Given the description of an element on the screen output the (x, y) to click on. 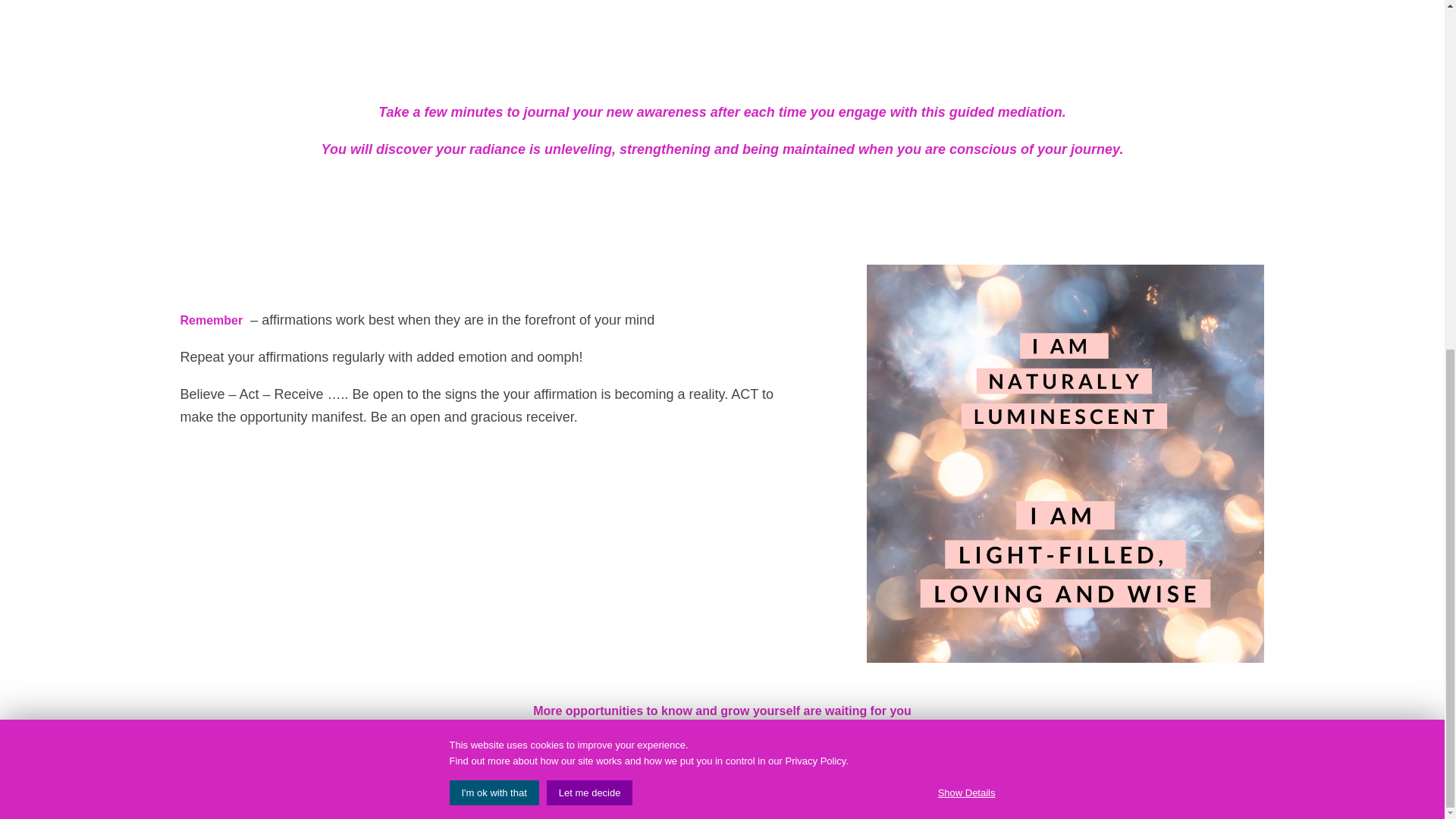
Show Details (966, 187)
lflw gm (865, 17)
Take a look here (721, 772)
Let me decide (590, 187)
I'm ok with that (493, 187)
